Given the description of an element on the screen output the (x, y) to click on. 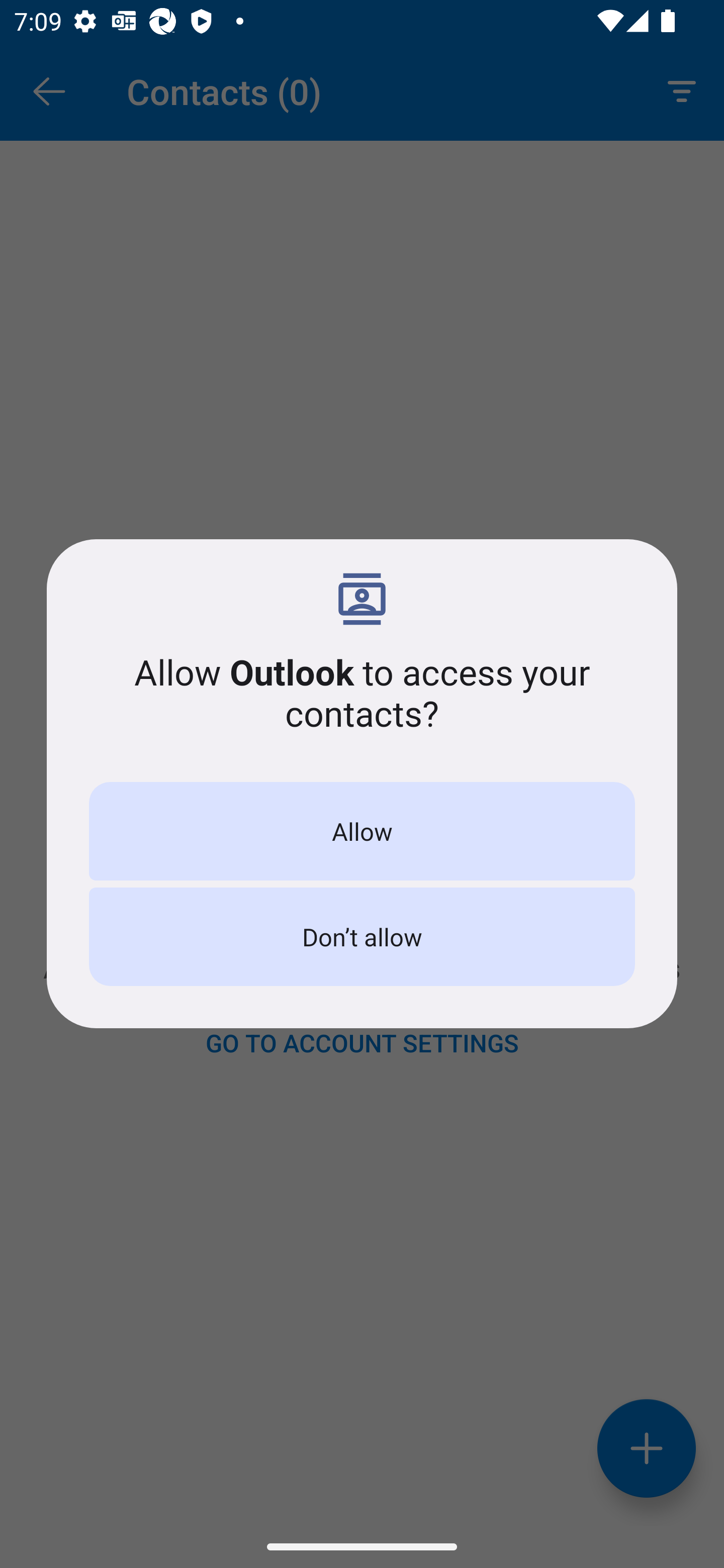
Allow (361, 831)
Don’t allow (361, 936)
